Given the description of an element on the screen output the (x, y) to click on. 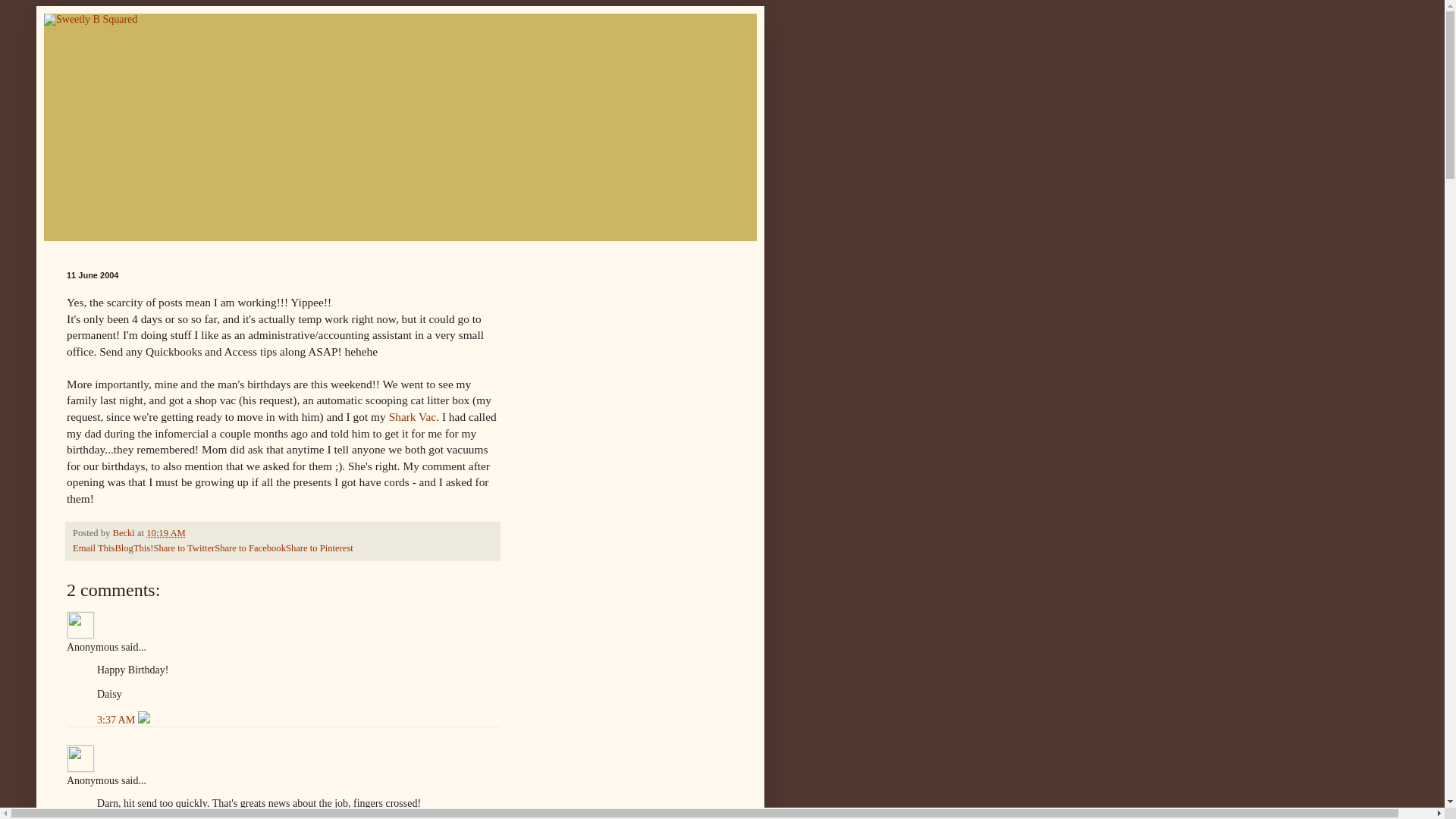
permanent link (165, 532)
author profile (124, 532)
comment permalink (117, 719)
10:19 AM (165, 532)
Share to Pinterest (319, 547)
Delete Comment (143, 719)
Anonymous (80, 758)
Becki (124, 532)
Share to Facebook (249, 547)
Anonymous (80, 624)
BlogThis! (133, 547)
Email This (93, 547)
Share to Twitter (183, 547)
BlogThis! (133, 547)
Share to Facebook (249, 547)
